Given the description of an element on the screen output the (x, y) to click on. 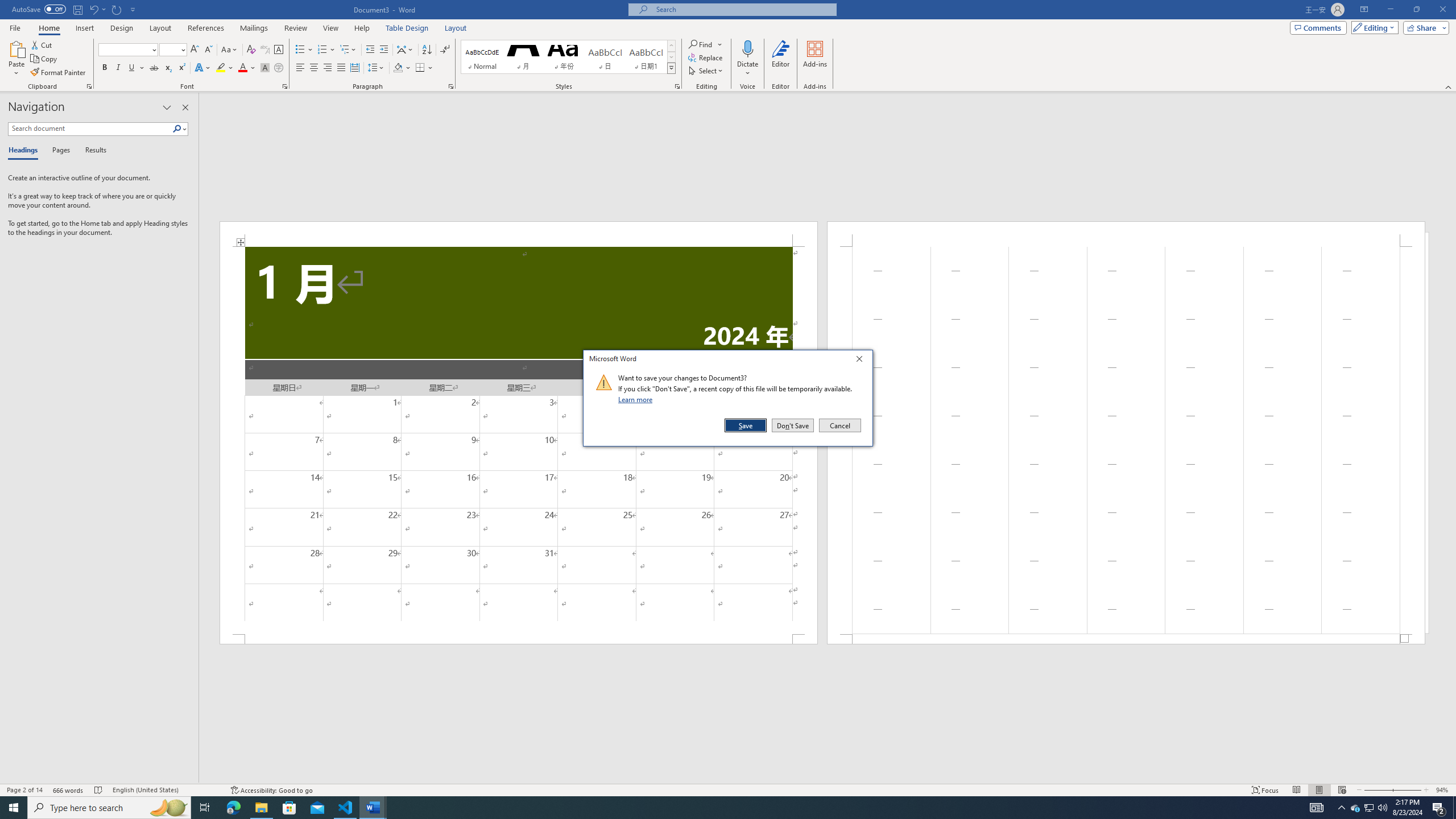
Minimize (1390, 9)
Undo Apply Quick Style (96, 9)
Font Color (246, 67)
Headings (25, 150)
Collapse the Ribbon (1448, 86)
Cut (42, 44)
Header -Section 1- (1126, 233)
Search (177, 128)
Word Count 666 words (68, 790)
Restore Down (1416, 9)
Search document (89, 128)
Undo Apply Quick Style (92, 9)
Ribbon Display Options (1364, 9)
Open (182, 49)
